Given the description of an element on the screen output the (x, y) to click on. 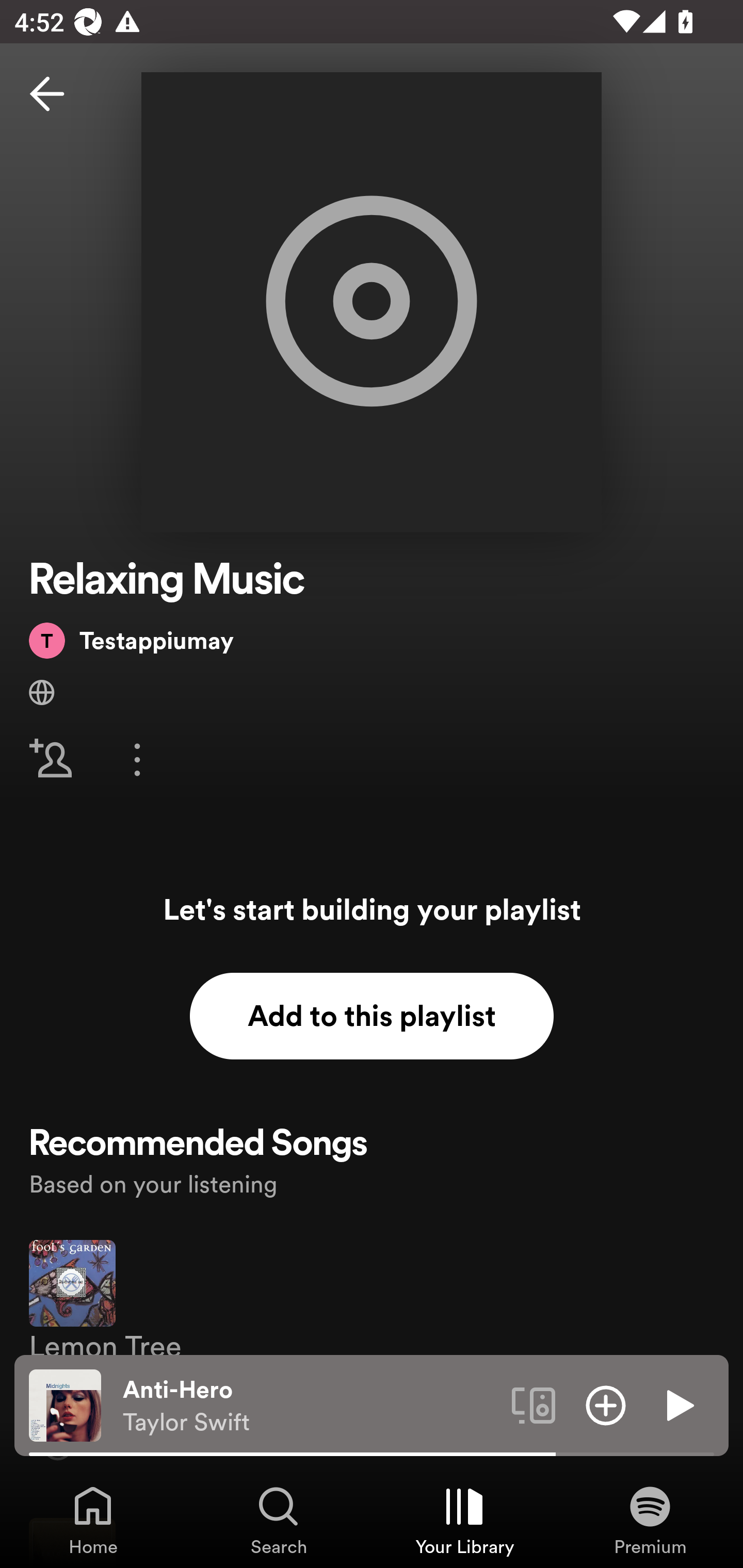
Back (46, 93)
Testappiumay (131, 640)
Invite Friends for playlist (50, 759)
More options for playlist Relaxing Music (136, 759)
Add to this playlist (371, 1015)
Anti-Hero Taylor Swift (309, 1405)
The cover art of the currently playing track (64, 1404)
Connect to a device. Opens the devices menu (533, 1404)
Add item (605, 1404)
Play (677, 1404)
Home, Tab 1 of 4 Home Home (92, 1519)
Search, Tab 2 of 4 Search Search (278, 1519)
Your Library, Tab 3 of 4 Your Library Your Library (464, 1519)
Premium, Tab 4 of 4 Premium Premium (650, 1519)
